Given the description of an element on the screen output the (x, y) to click on. 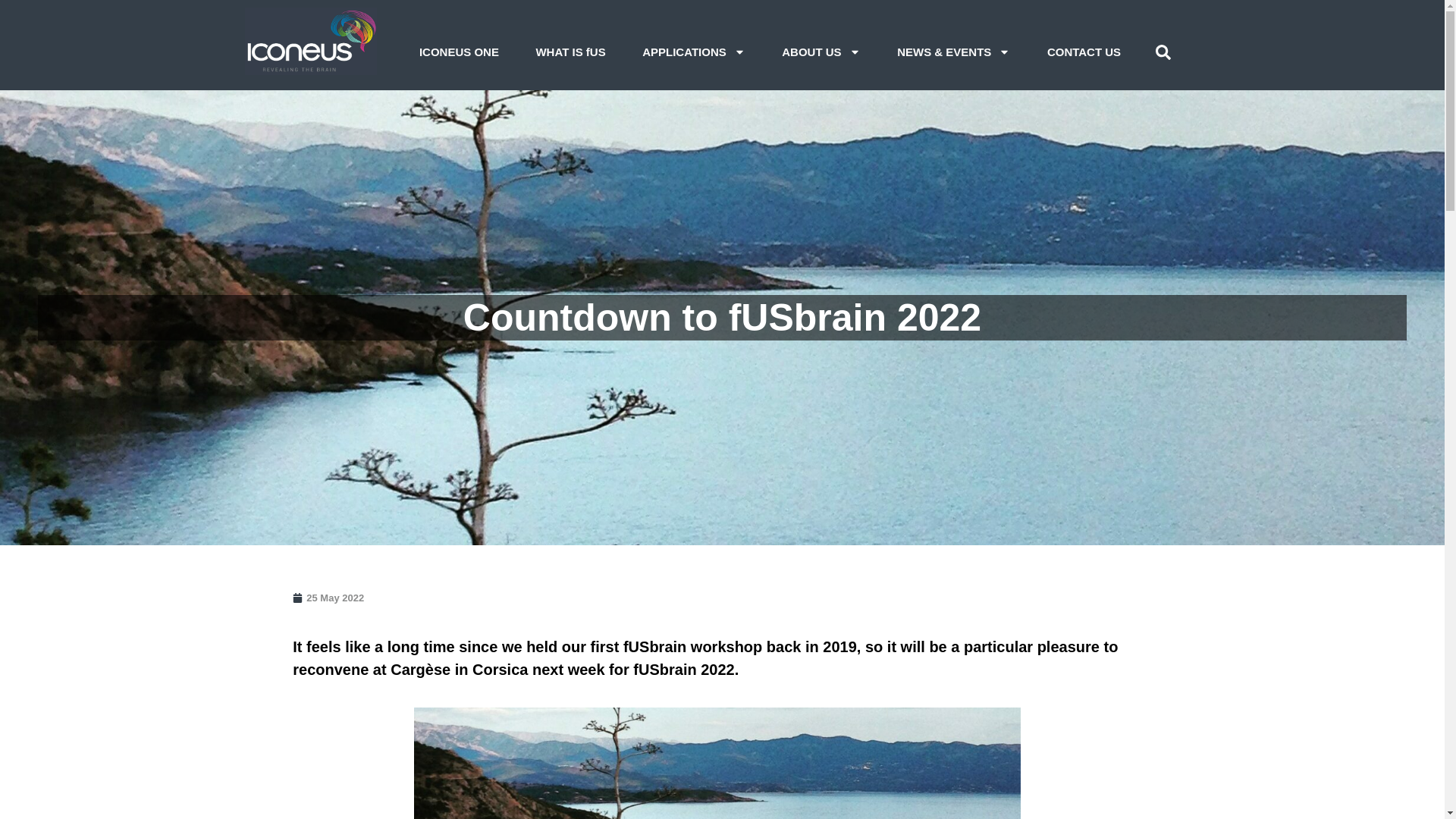
ICONEUS ONE (459, 52)
ABOUT US (820, 52)
APPLICATIONS (693, 52)
WHAT IS fUS (570, 52)
CONTACT US (1084, 52)
